Given the description of an element on the screen output the (x, y) to click on. 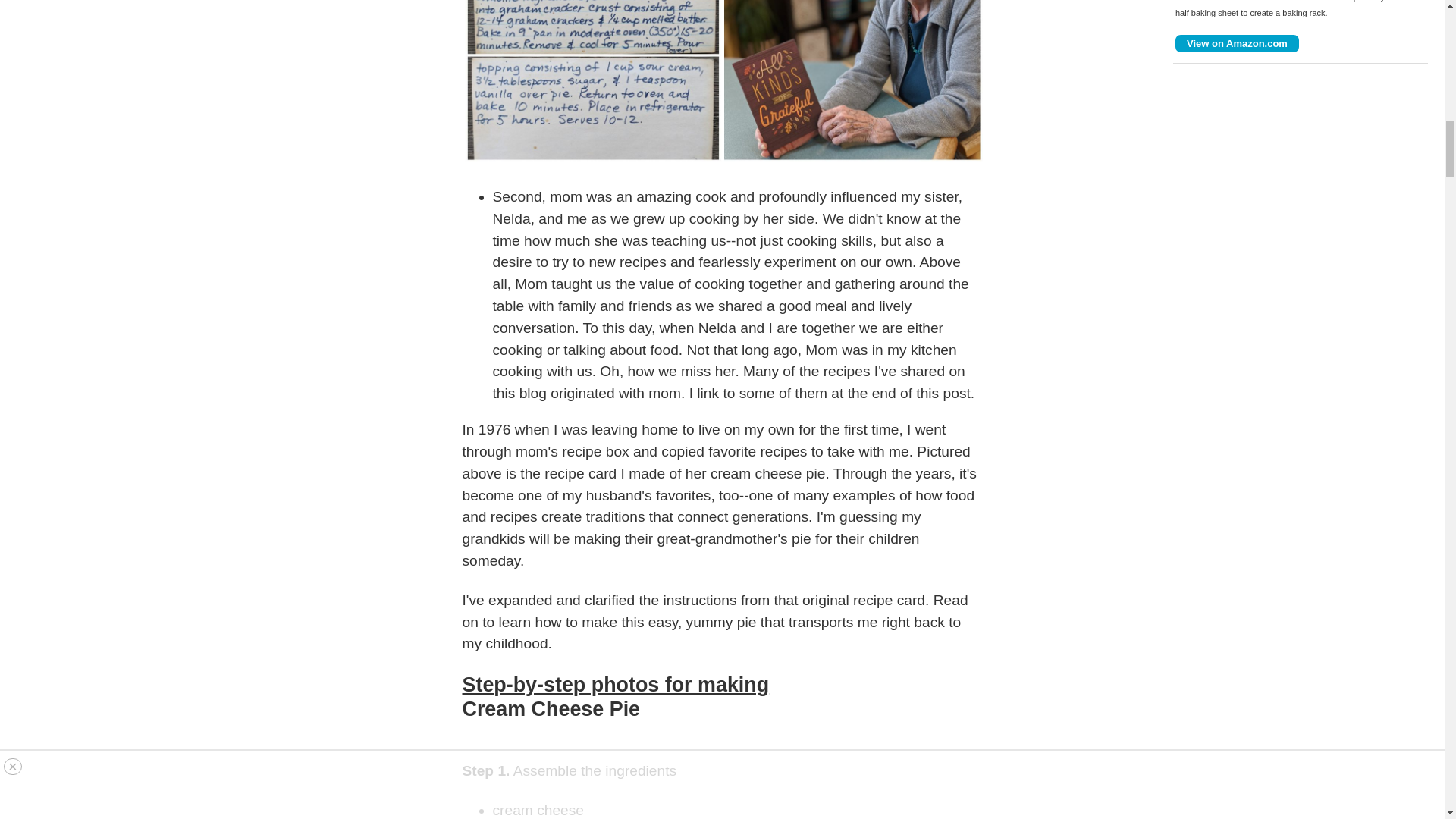
View on Amazon.com (1236, 43)
